Given the description of an element on the screen output the (x, y) to click on. 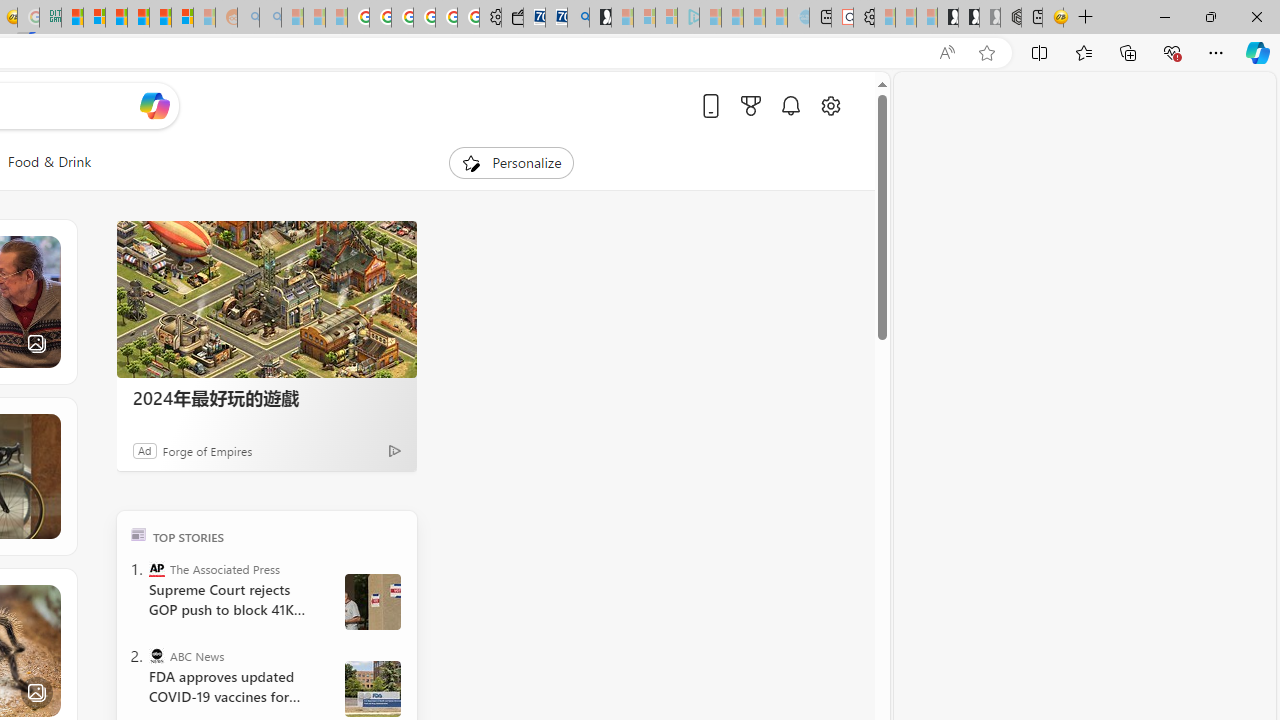
Expert Portfolios (138, 17)
